Given the description of an element on the screen output the (x, y) to click on. 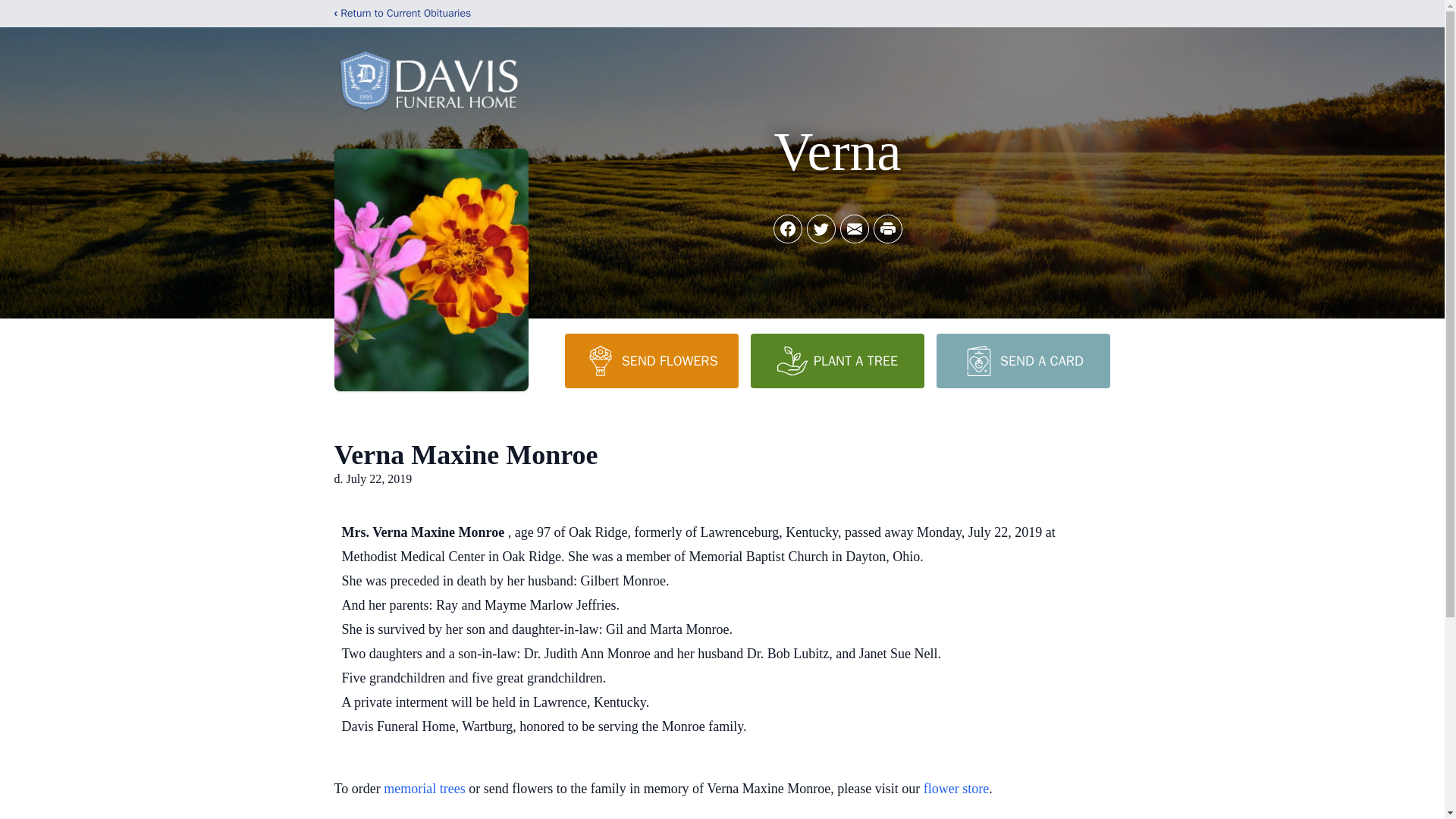
PLANT A TREE (837, 360)
memorial trees (424, 788)
SEND FLOWERS (651, 360)
SEND A CARD (1022, 360)
flower store (955, 788)
